Given the description of an element on the screen output the (x, y) to click on. 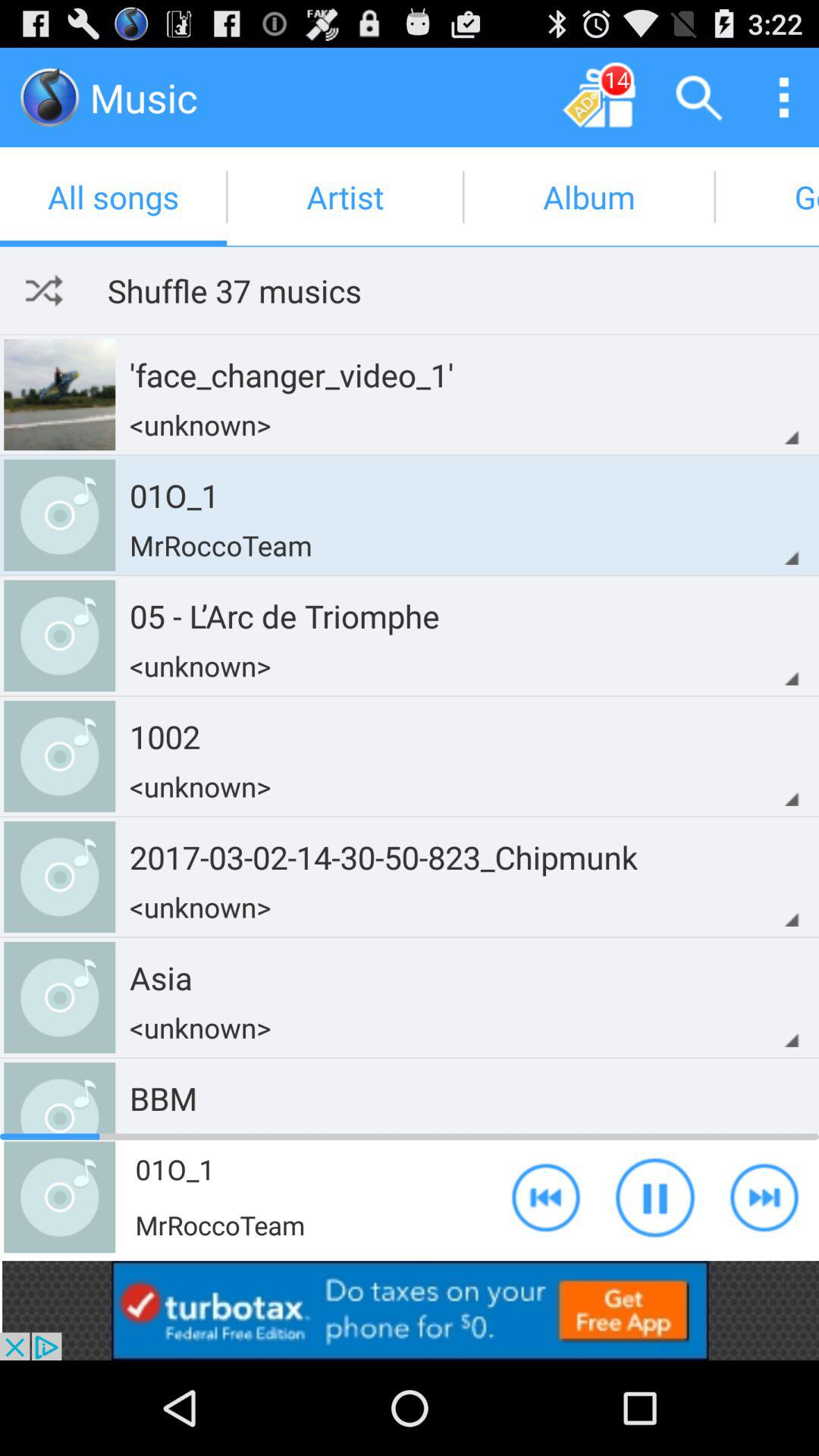
go to previews option (545, 1196)
